Given the description of an element on the screen output the (x, y) to click on. 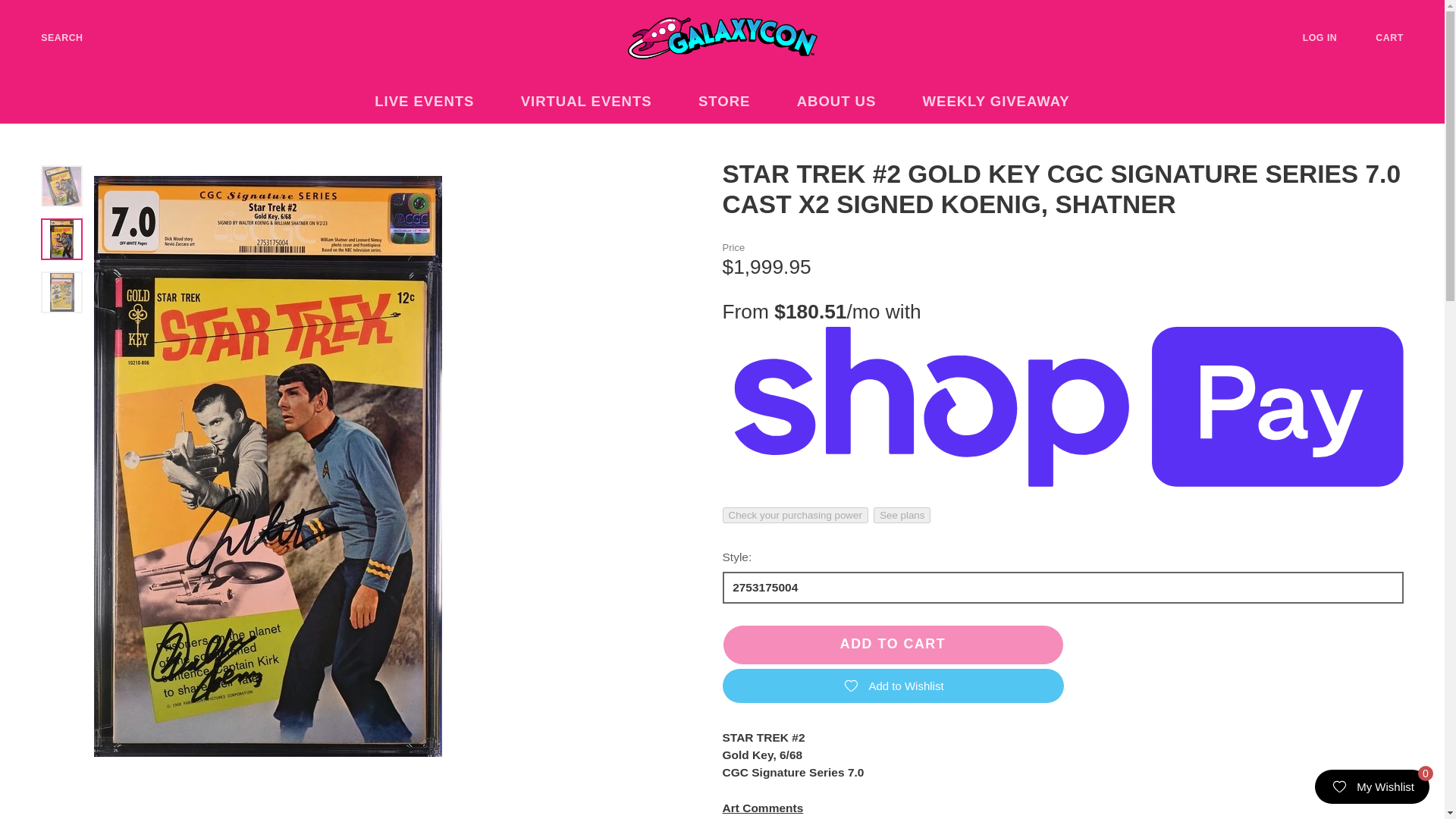
VIRTUAL EVENTS (595, 101)
LOG IN (1332, 37)
SEARCH (49, 37)
CART (1400, 37)
LIVE EVENTS (433, 101)
